Given the description of an element on the screen output the (x, y) to click on. 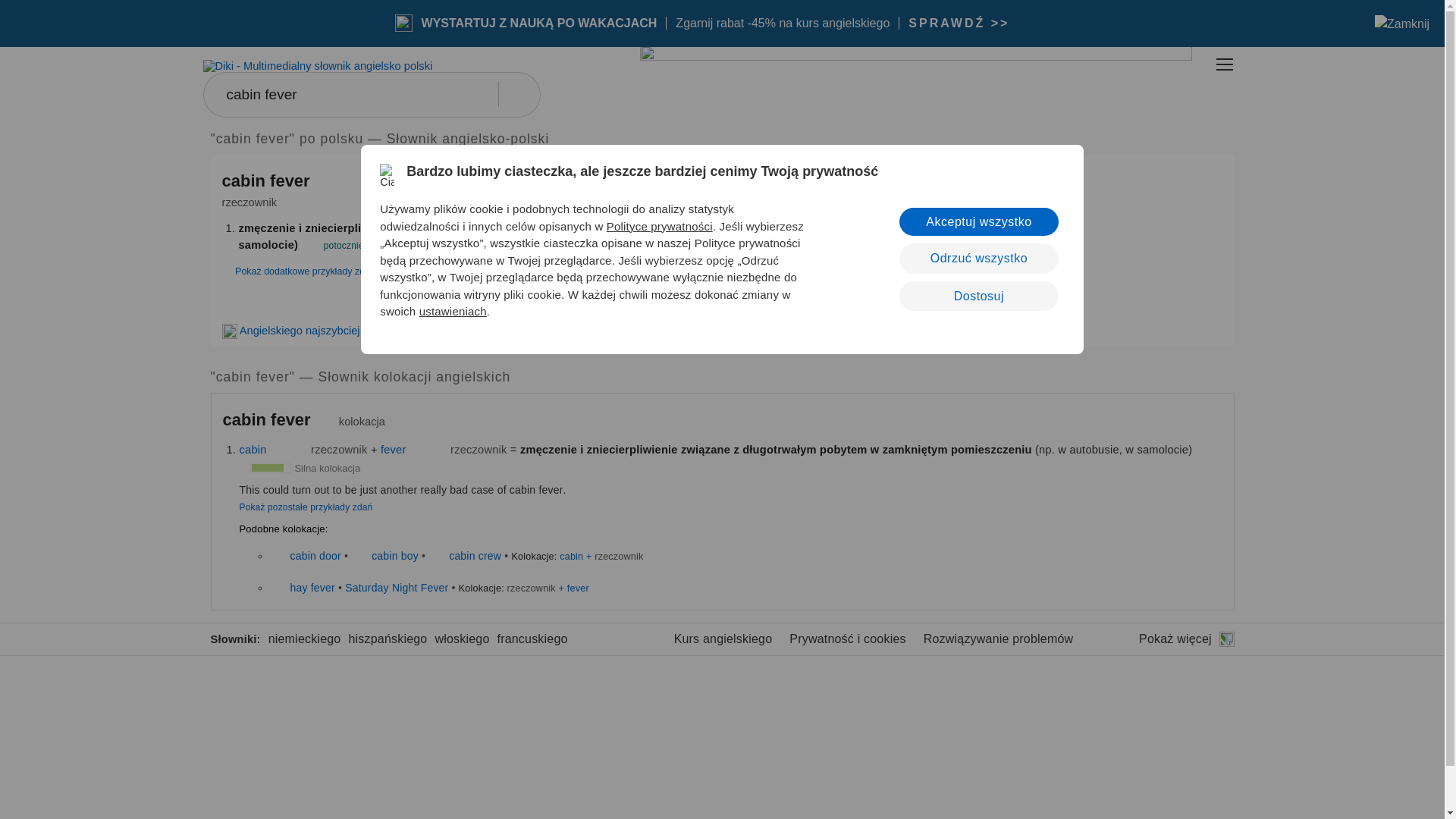
British English (278, 449)
potocznie (343, 245)
American English (437, 449)
hay fever (311, 587)
Saturday Night Fever (396, 587)
fever (393, 449)
cabin door (314, 555)
British English (324, 182)
British English (279, 587)
cabin boy (395, 555)
